Given the description of an element on the screen output the (x, y) to click on. 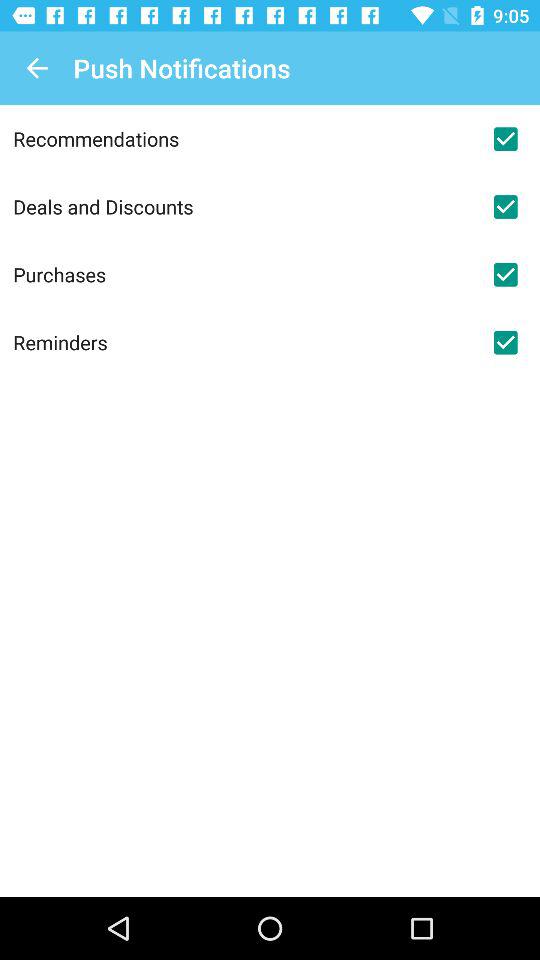
click item above the purchases icon (242, 206)
